Given the description of an element on the screen output the (x, y) to click on. 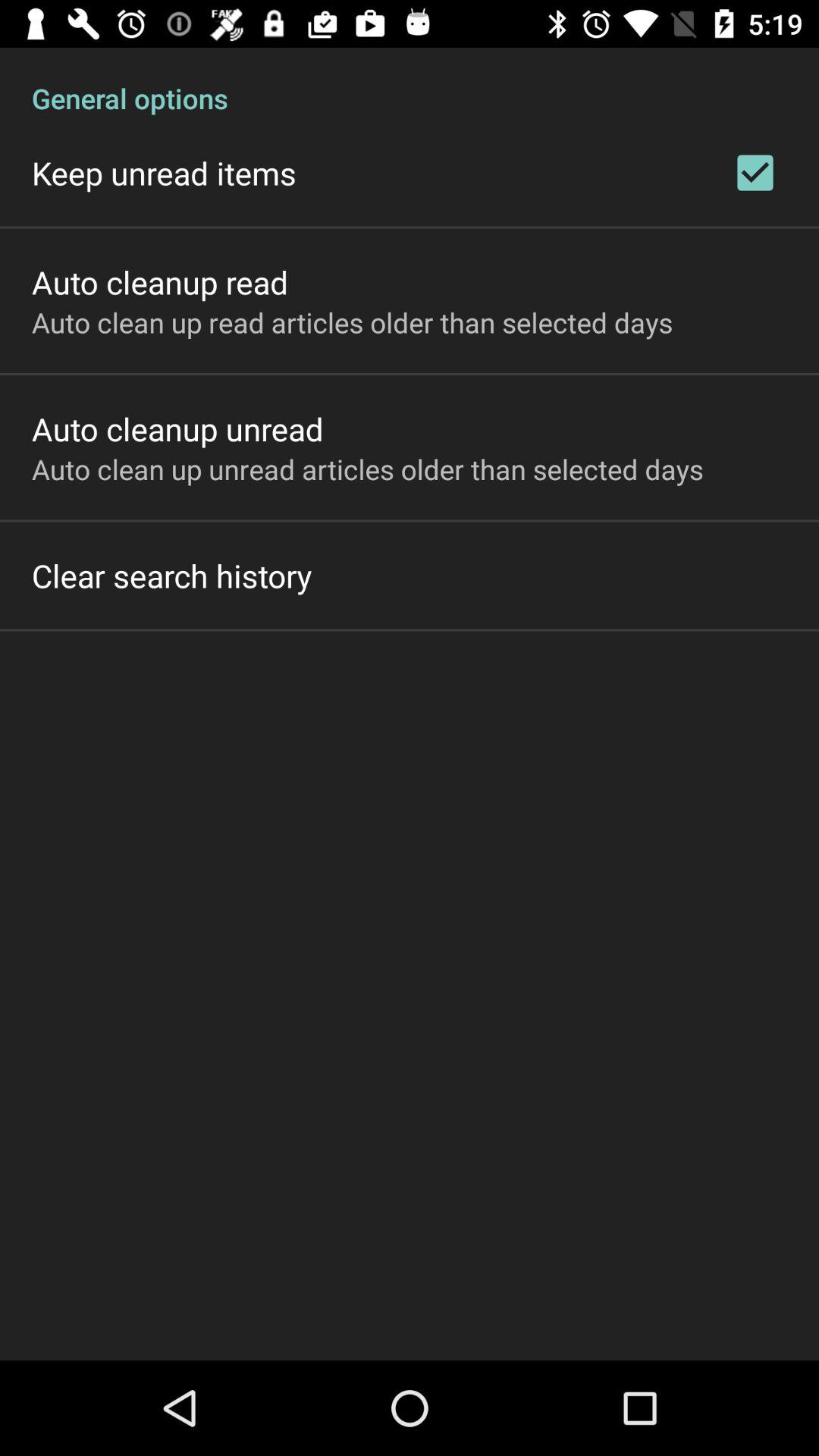
open the item below the general options (163, 172)
